Given the description of an element on the screen output the (x, y) to click on. 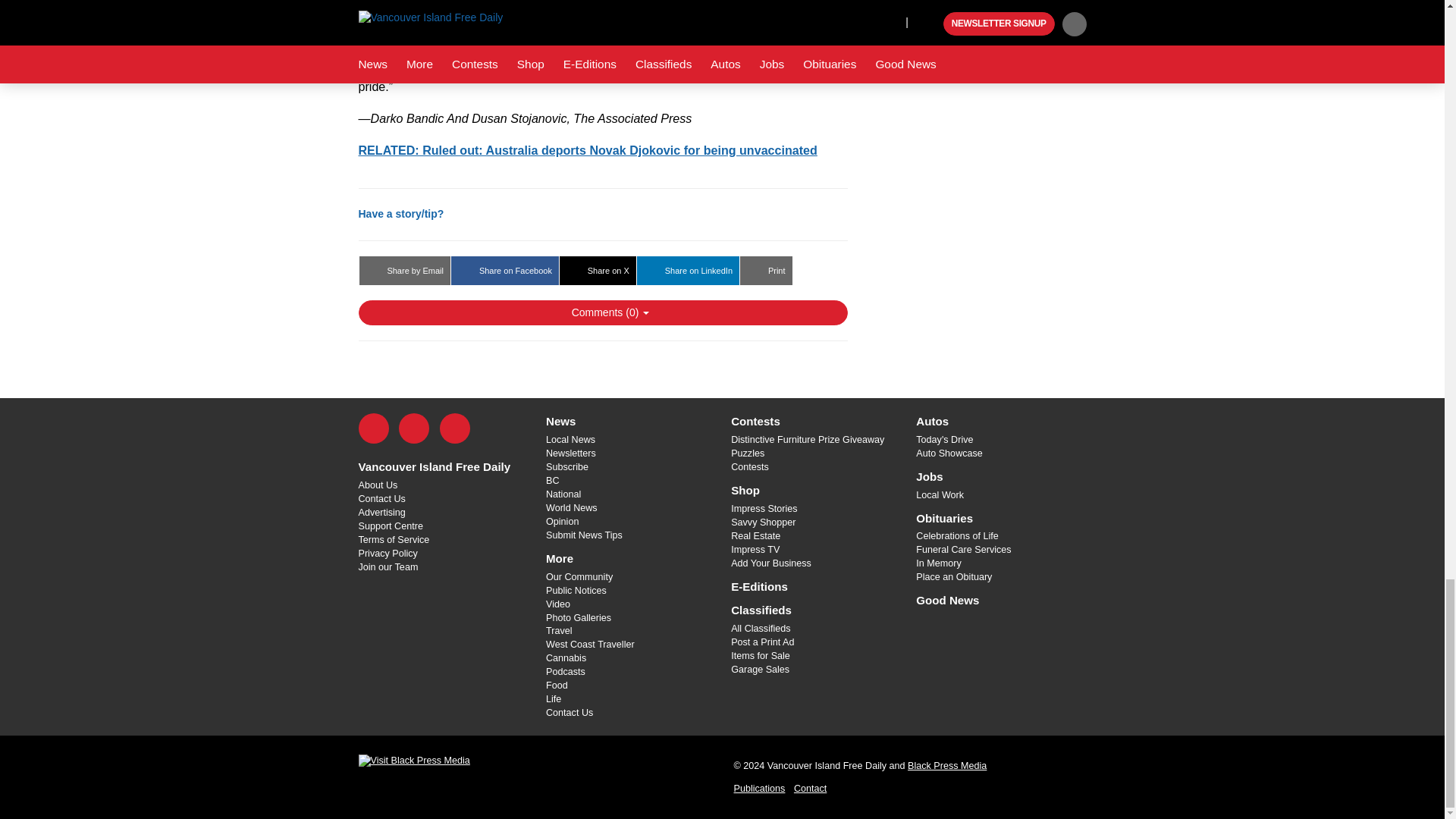
Show Comments (602, 312)
Facebook (373, 428)
Instagram (454, 428)
X (413, 428)
related story (587, 150)
